Given the description of an element on the screen output the (x, y) to click on. 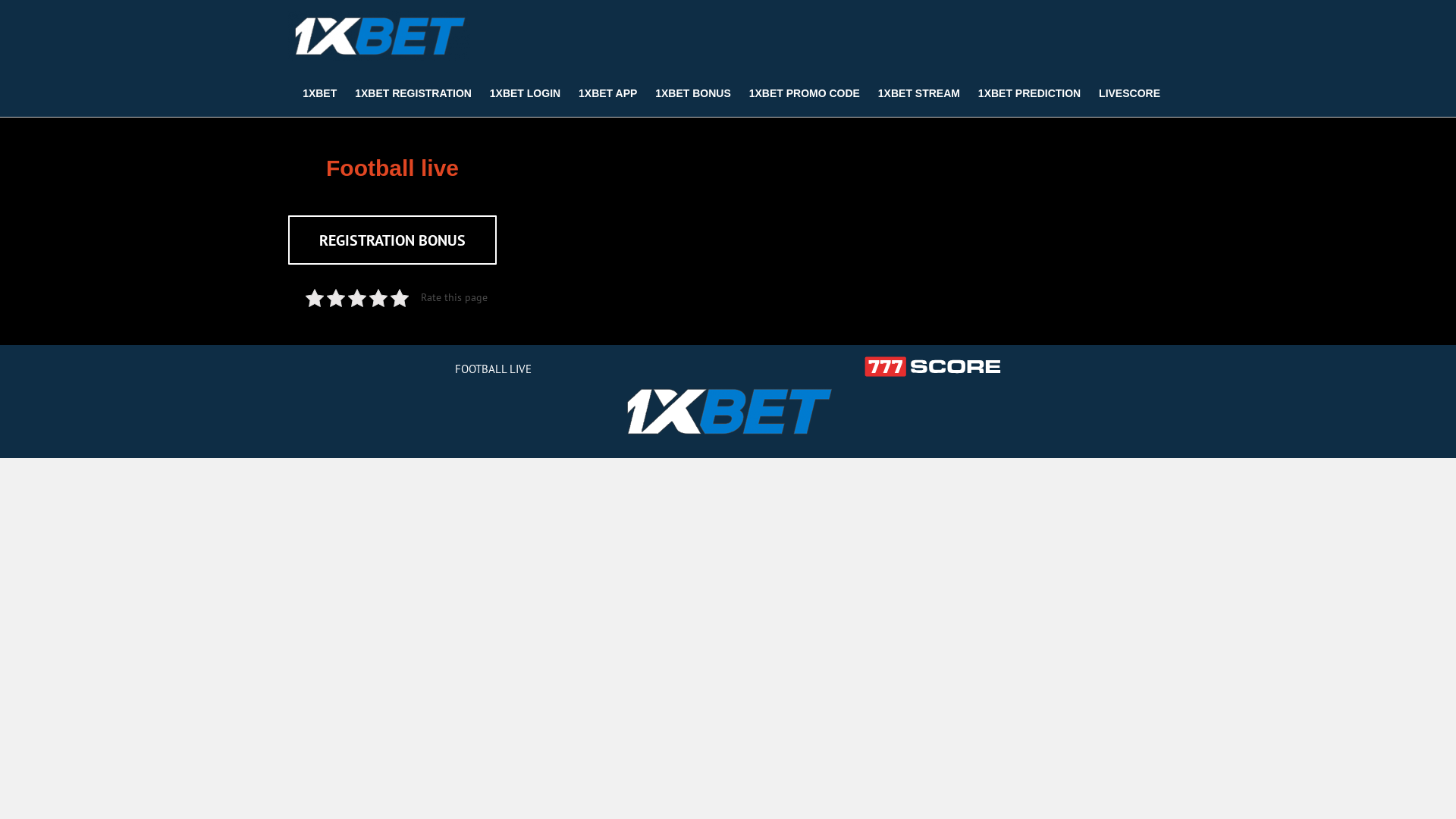
1XBET REGISTRATION Element type: text (413, 93)
1XBET LOGIN Element type: text (524, 93)
LIVESCORE Element type: text (1129, 93)
1XBET STREAM Element type: text (918, 93)
REGISTRATION BONUS Element type: text (392, 239)
1XBET BONUS Element type: text (692, 93)
1XBET PREDICTION Element type: text (1029, 93)
1XBET PROMO CODE Element type: text (804, 93)
FOOTBALL LIVE Element type: text (493, 368)
1XBET APP Element type: text (607, 93)
1XBET Element type: text (319, 93)
